Given the description of an element on the screen output the (x, y) to click on. 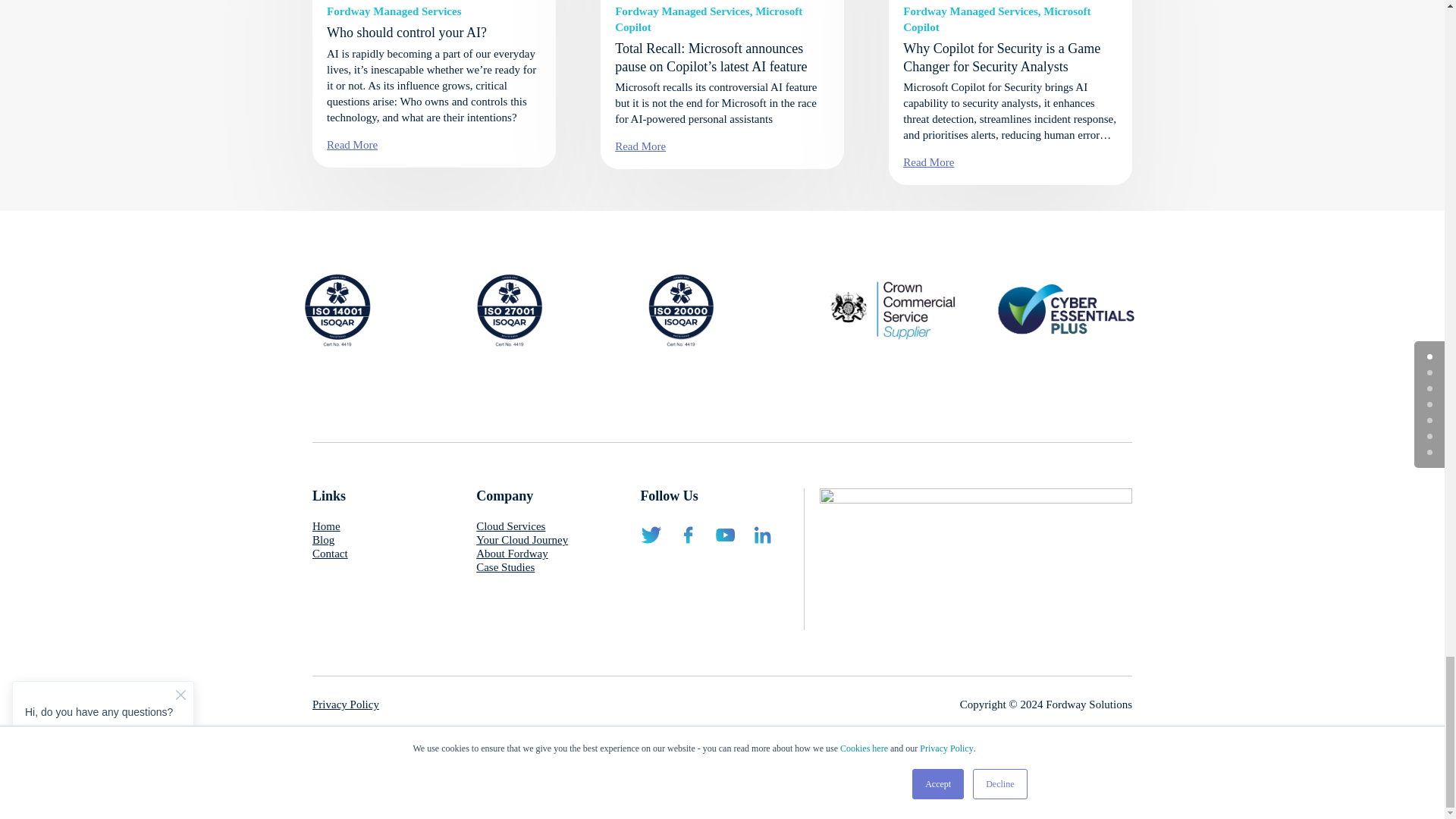
Read More (351, 143)
Fordway Managed Services (681, 10)
Fordway Managed Services (393, 10)
Microsoft Copilot (708, 18)
Who should control your AI? (406, 32)
Read More (639, 146)
Fordway Managed Services (969, 10)
